Given the description of an element on the screen output the (x, y) to click on. 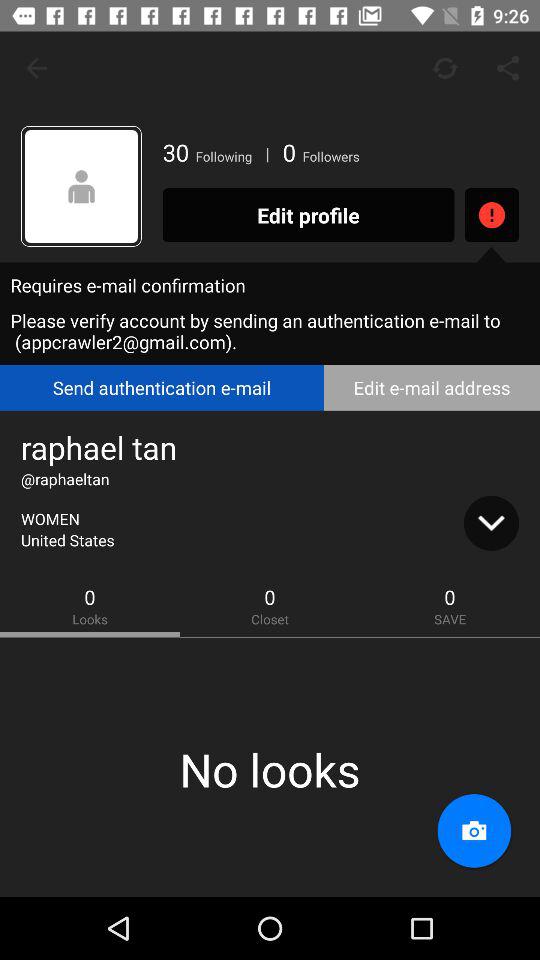
tap item above requires e mail icon (81, 186)
